Given the description of an element on the screen output the (x, y) to click on. 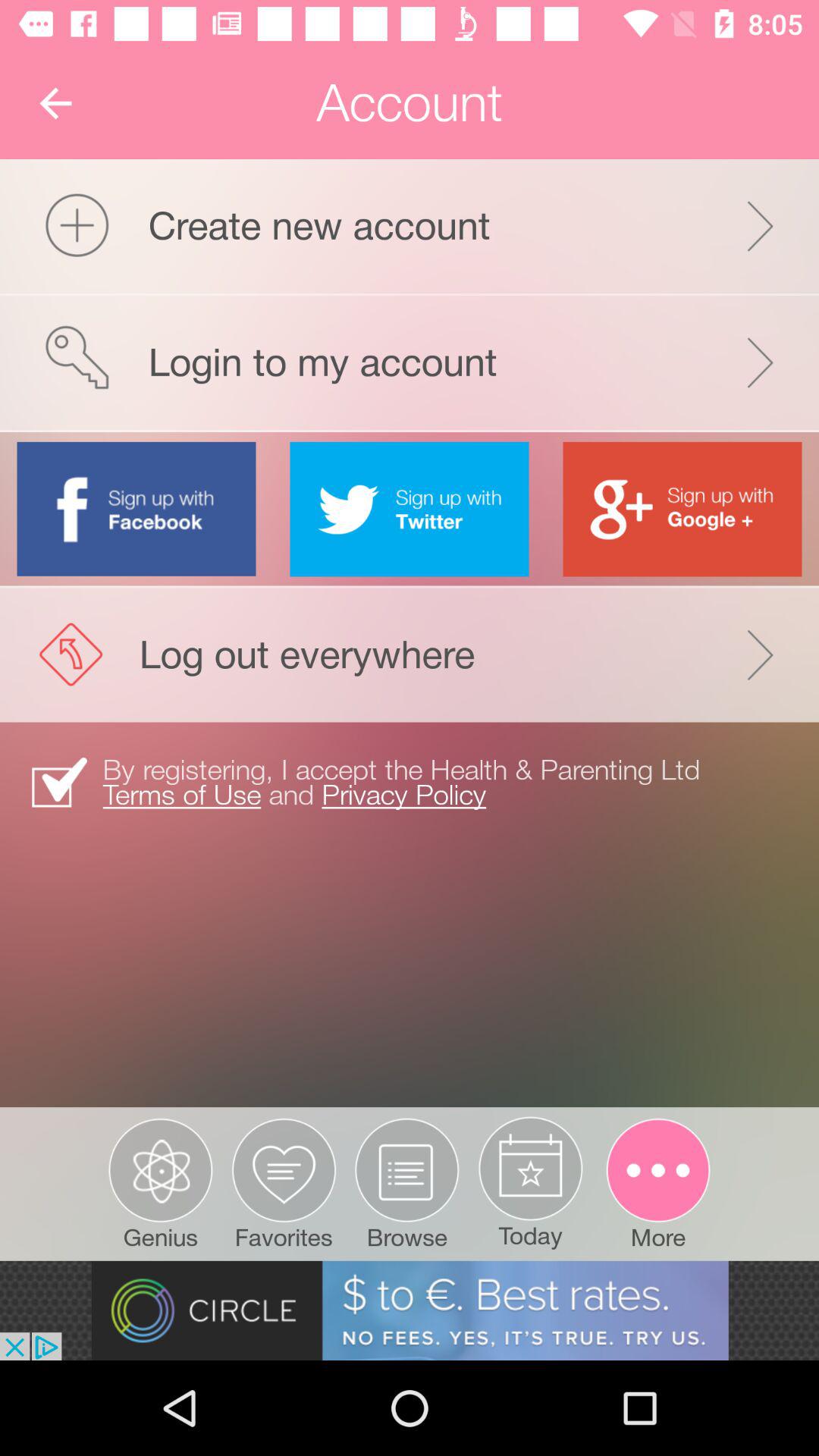
sign up with twitter (409, 508)
